Given the description of an element on the screen output the (x, y) to click on. 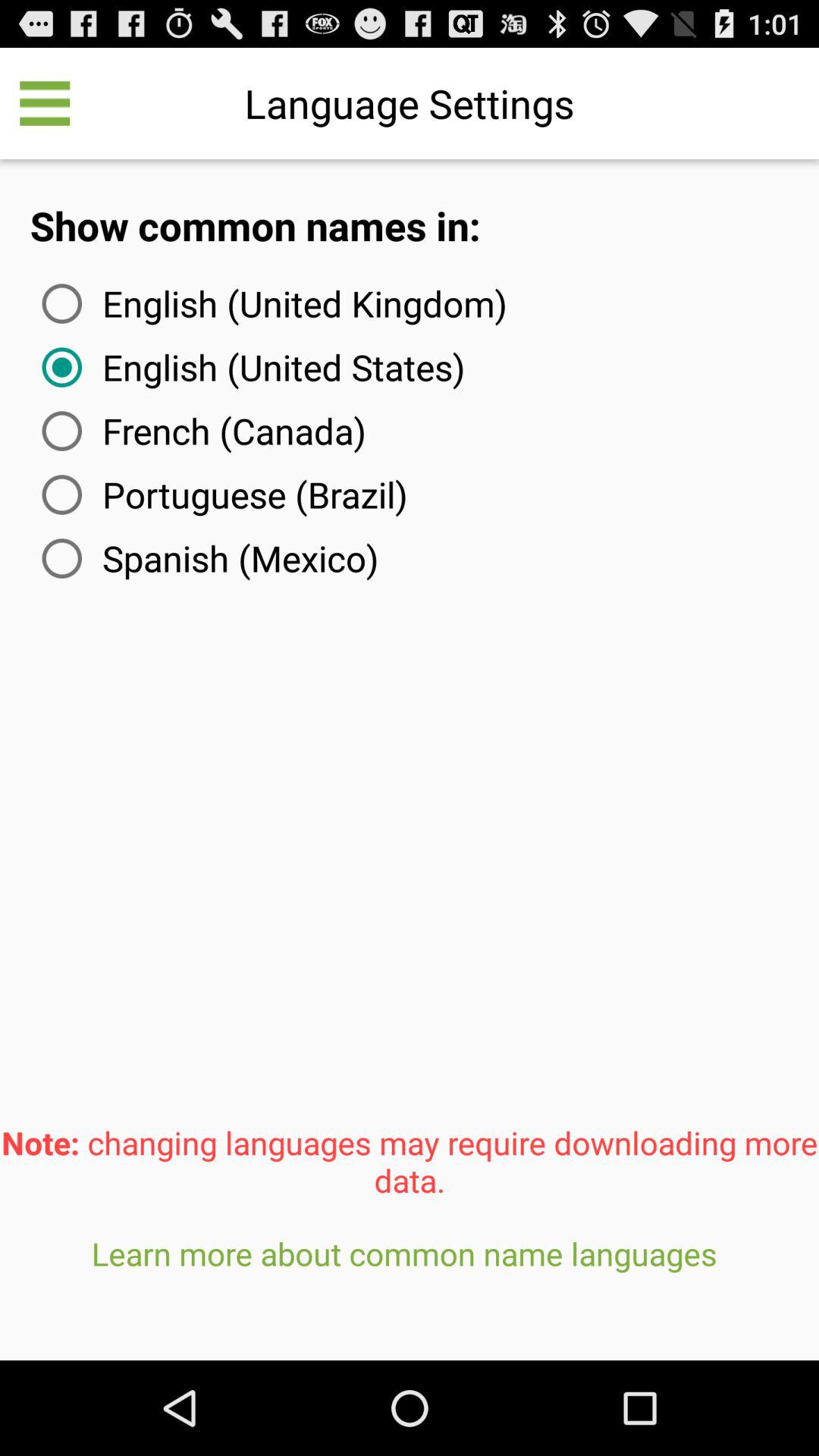
choose the icon below portuguese (brazil) item (207, 558)
